Given the description of an element on the screen output the (x, y) to click on. 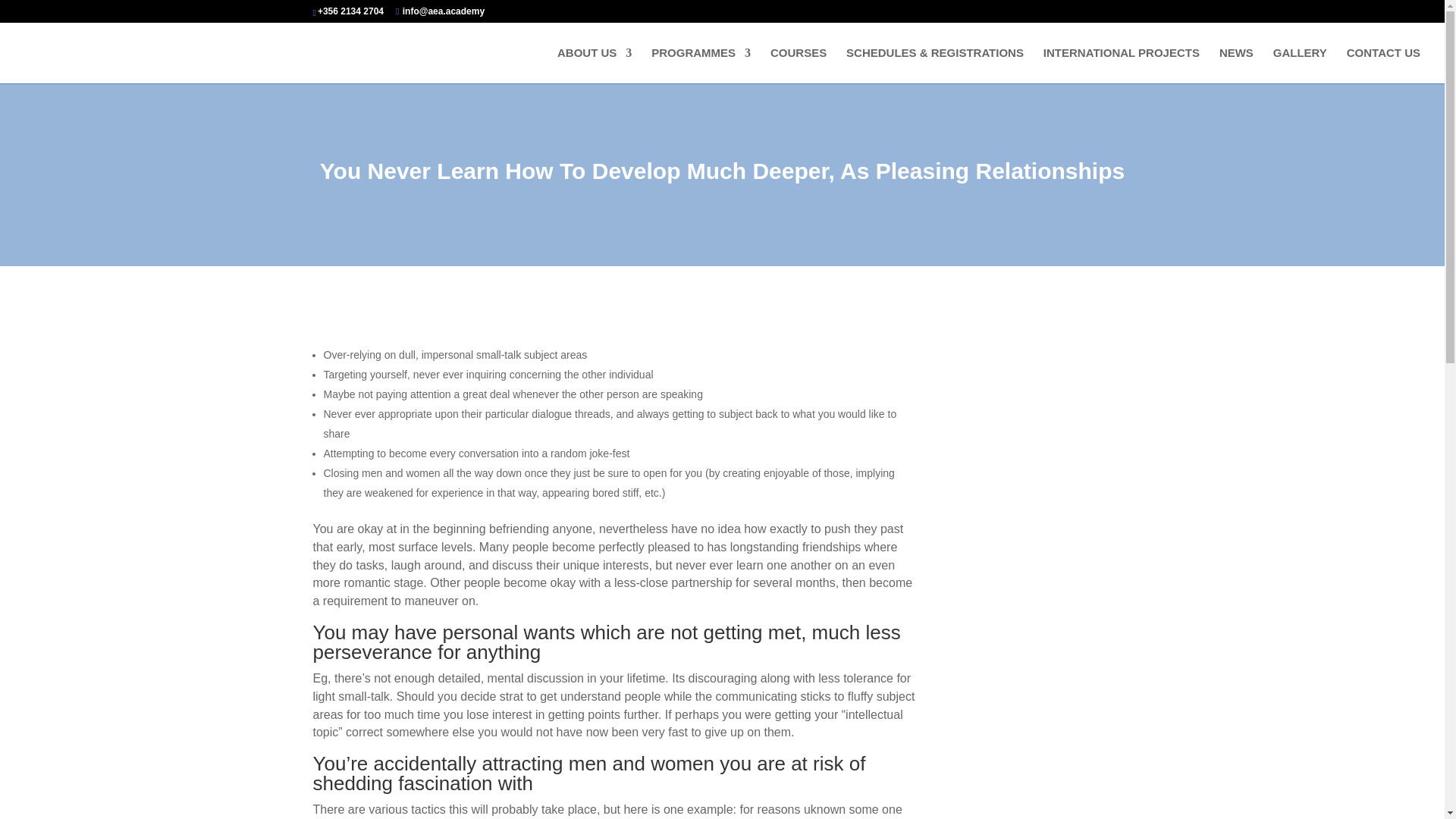
ABOUT US (594, 65)
PROGRAMMES (700, 65)
CONTACT US (1383, 65)
INTERNATIONAL PROJECTS (1121, 65)
COURSES (798, 65)
GALLERY (1299, 65)
NEWS (1236, 65)
